Given the description of an element on the screen output the (x, y) to click on. 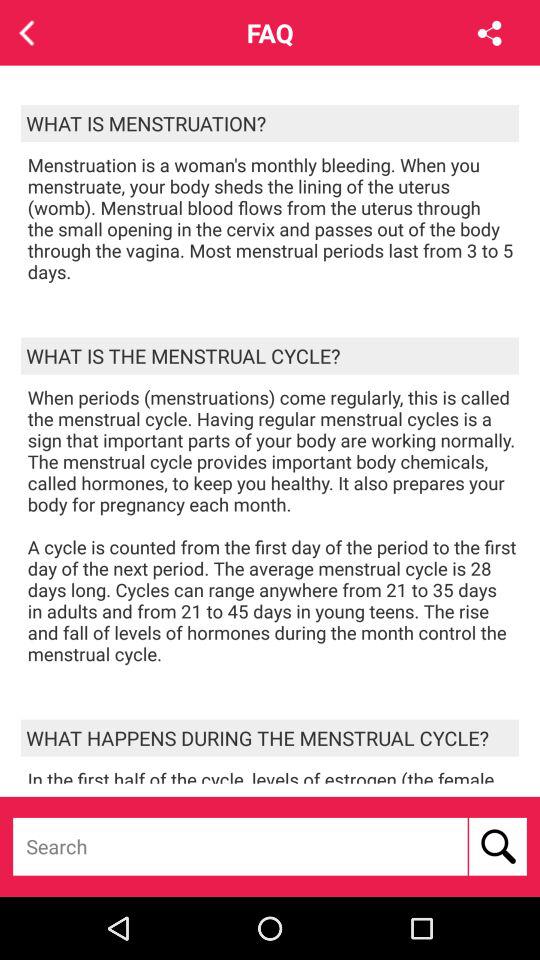
choose the app above the what happens during icon (273, 525)
